Given the description of an element on the screen output the (x, y) to click on. 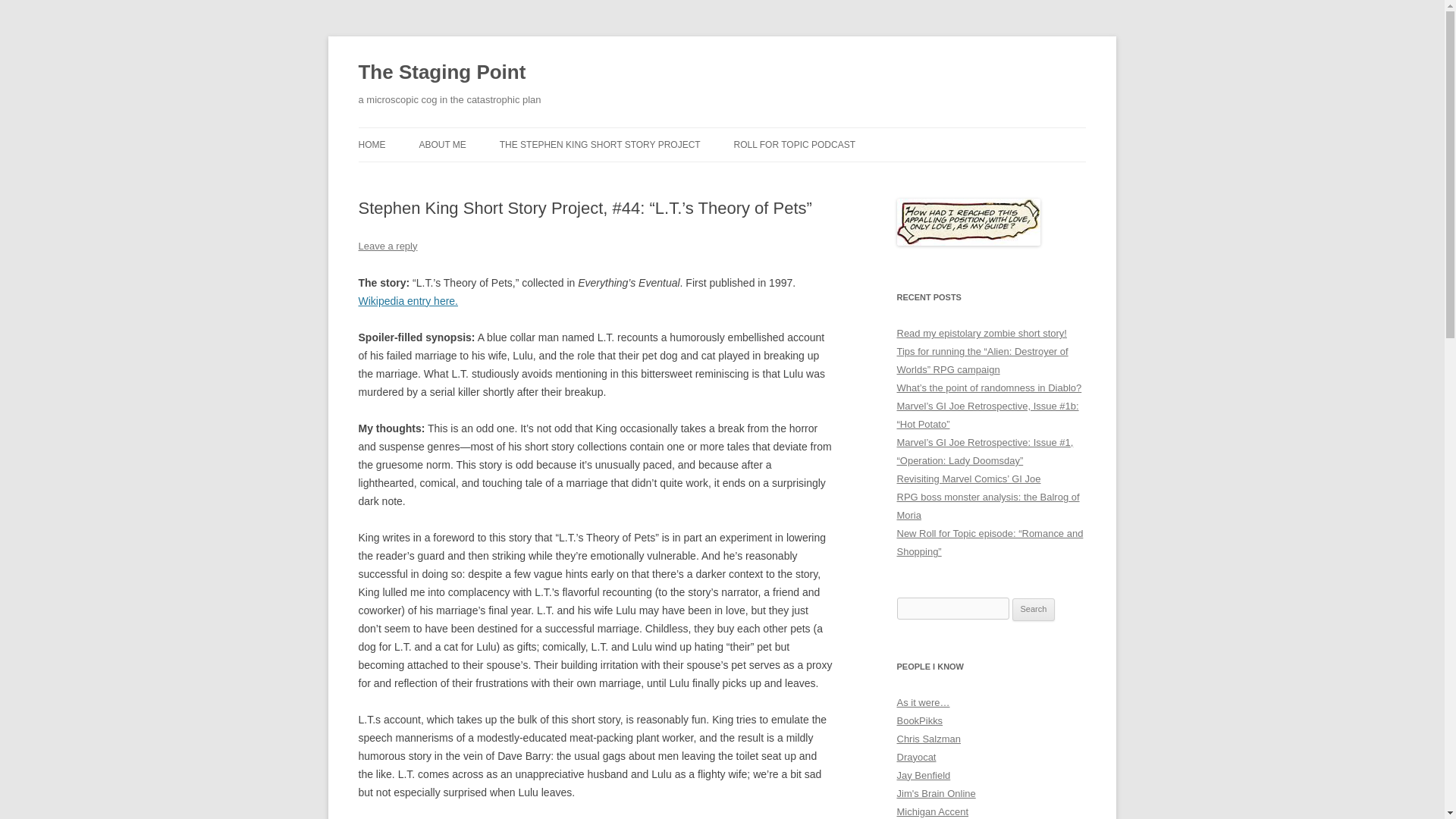
ABOUT ME (442, 144)
Wikipedia entry here. (408, 300)
Read my epistolary zombie short story! (980, 333)
Leave a reply (387, 245)
Chris Salzman (927, 738)
THE STEPHEN KING SHORT STORY PROJECT (599, 144)
Jay Benfield (923, 775)
The Staging Point (441, 72)
Michigan Accent (932, 811)
Search (1033, 609)
The Staging Point (441, 72)
BookPikks (919, 720)
RPG boss monster analysis: the Balrog of Moria (987, 505)
